Given the description of an element on the screen output the (x, y) to click on. 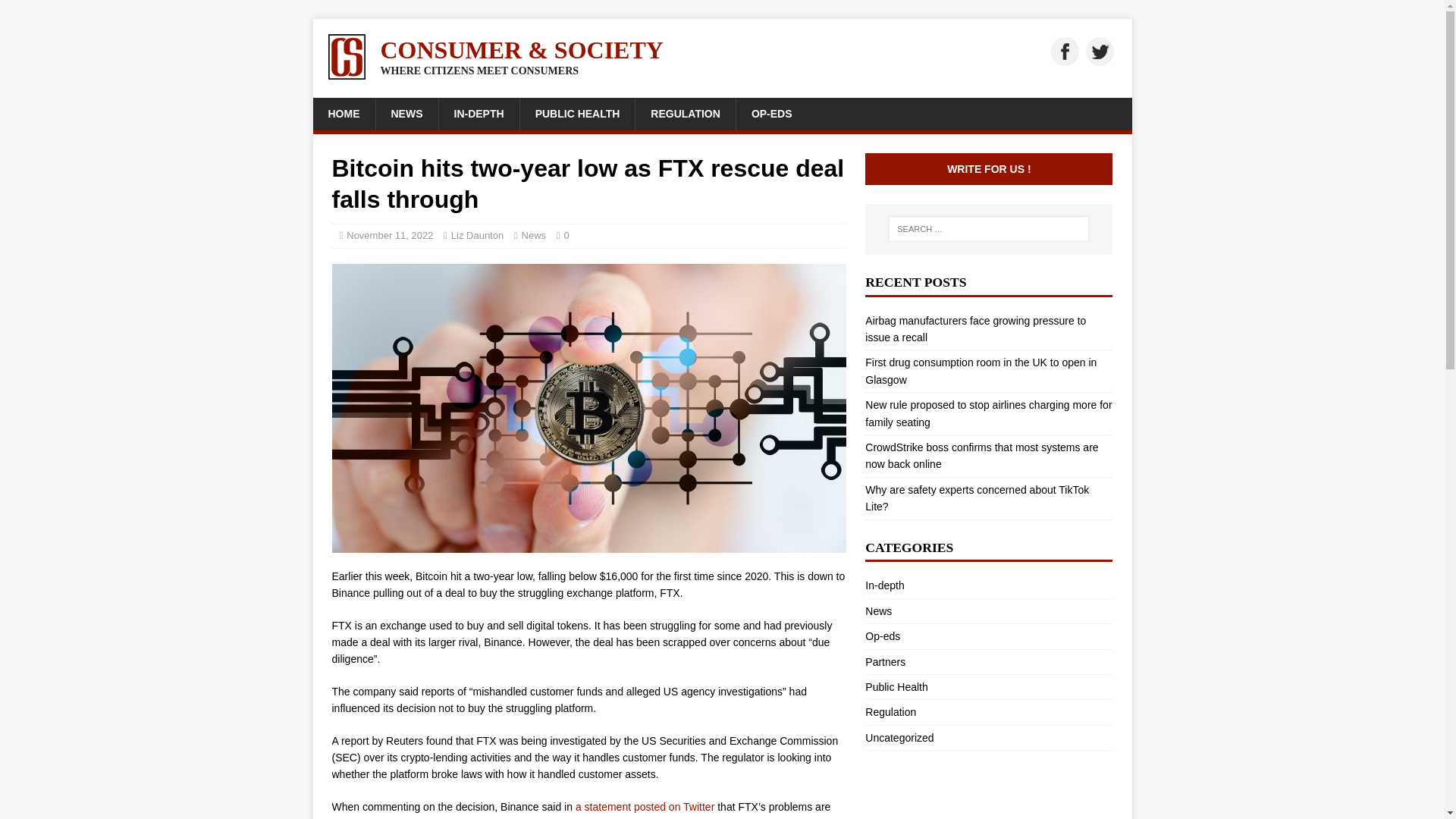
PUBLIC HEALTH (576, 113)
News (988, 610)
HOME (343, 113)
OP-EDS (771, 113)
a statement posted on Twitter (644, 806)
Search (56, 11)
First drug consumption room in the UK to open in Glasgow  (980, 370)
REGULATION (684, 113)
